Given the description of an element on the screen output the (x, y) to click on. 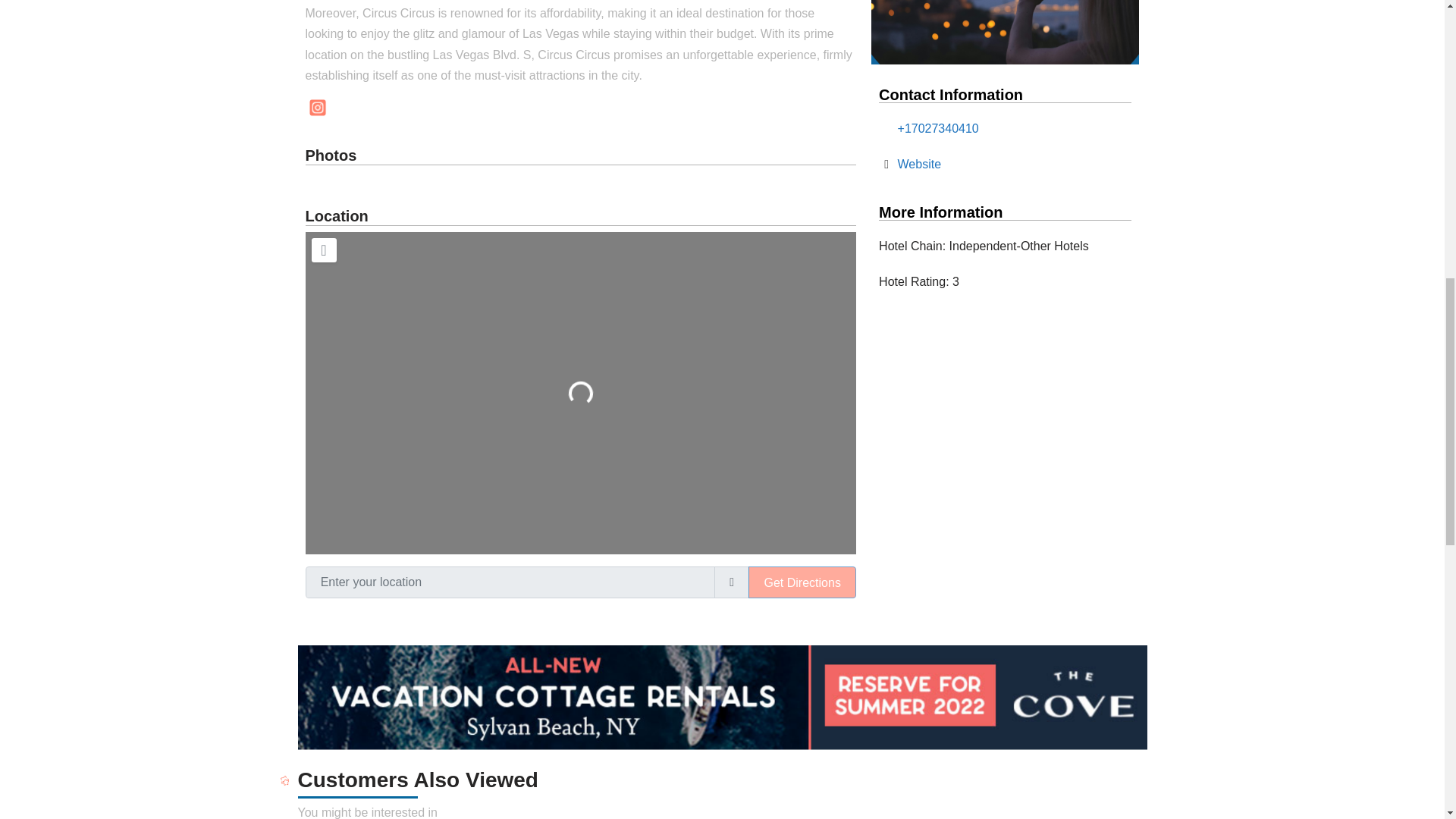
Instagram (316, 108)
use my location (731, 582)
